Given the description of an element on the screen output the (x, y) to click on. 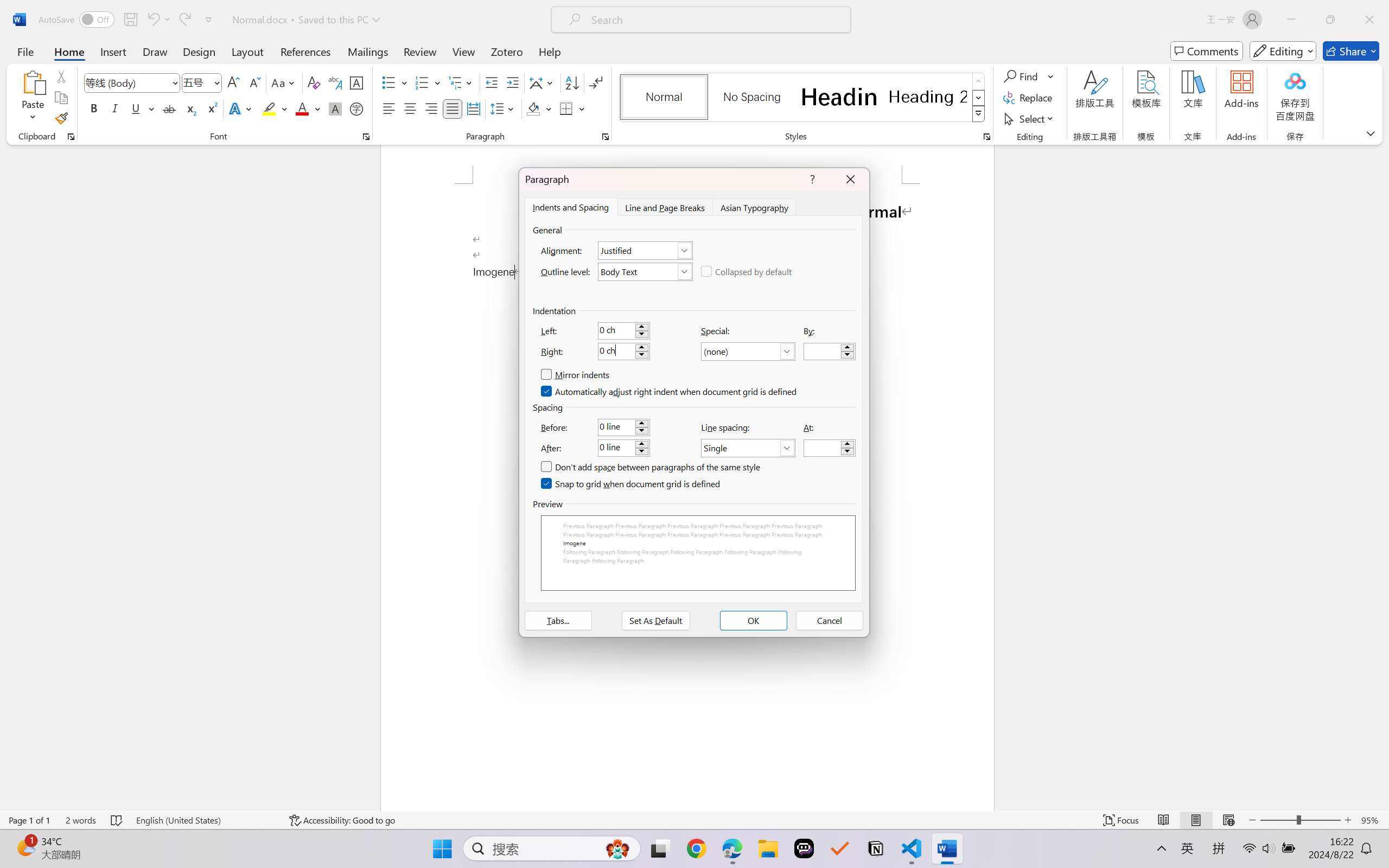
Copy (60, 97)
Change Case (284, 82)
Tabs... (558, 620)
Grow Font (233, 82)
Special: (748, 351)
Undo Typing (158, 19)
Decrease Indent (491, 82)
Multilevel List (461, 82)
Text Highlight Color Yellow (269, 108)
